Given the description of an element on the screen output the (x, y) to click on. 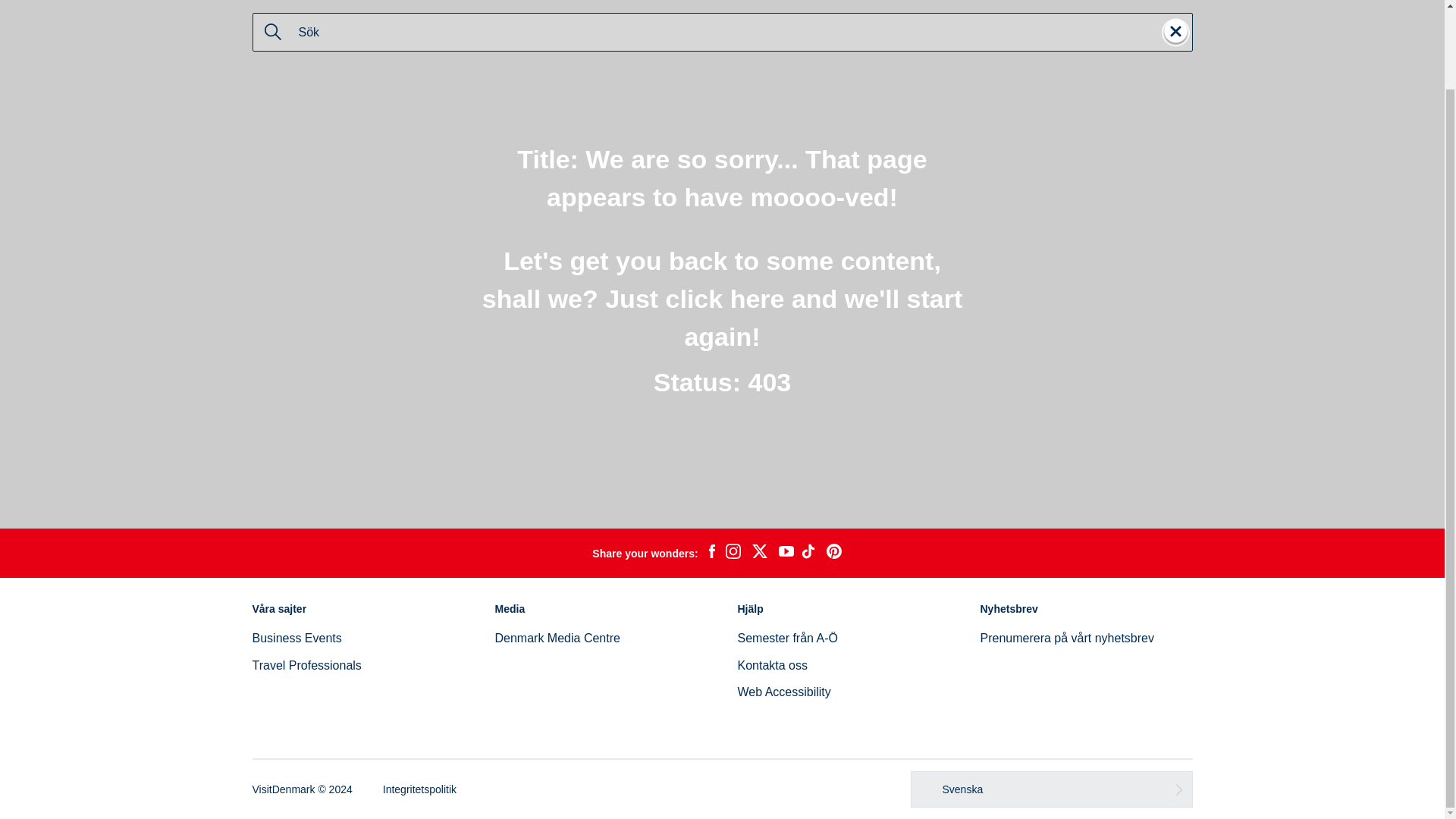
Business Events (295, 637)
Kontakta oss (772, 665)
Kontakta oss (772, 665)
Travel Professionals (306, 665)
facebook (711, 553)
Web Accessibility (782, 691)
Business Events (295, 637)
pinterest (834, 553)
twitter (759, 553)
tiktok (810, 553)
Integritetspolitik (419, 789)
instagram (732, 553)
youtube (786, 553)
Web Accessibility (782, 691)
Denmark Media Centre (557, 637)
